Given the description of an element on the screen output the (x, y) to click on. 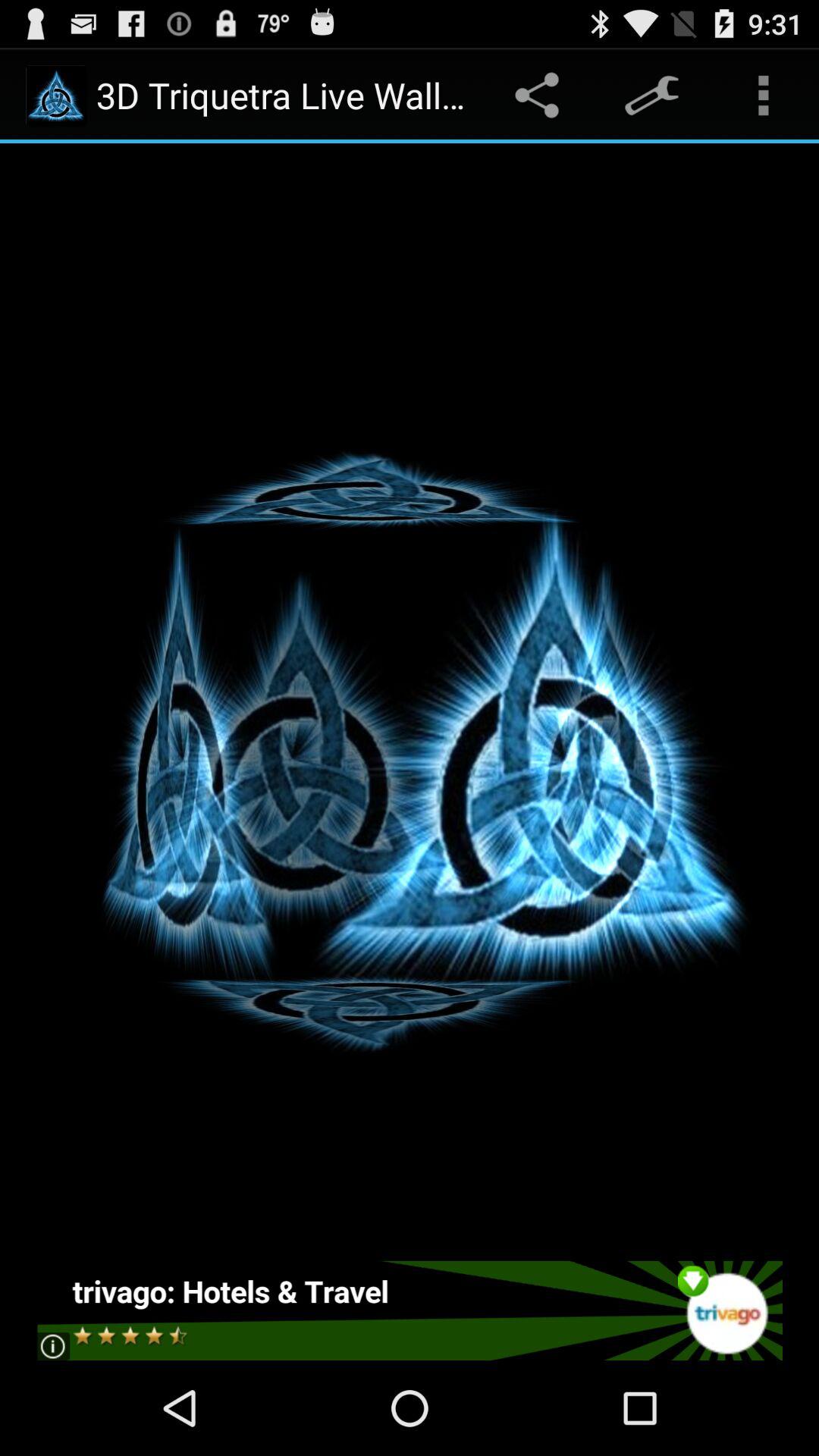
open advertisement (409, 1310)
